Given the description of an element on the screen output the (x, y) to click on. 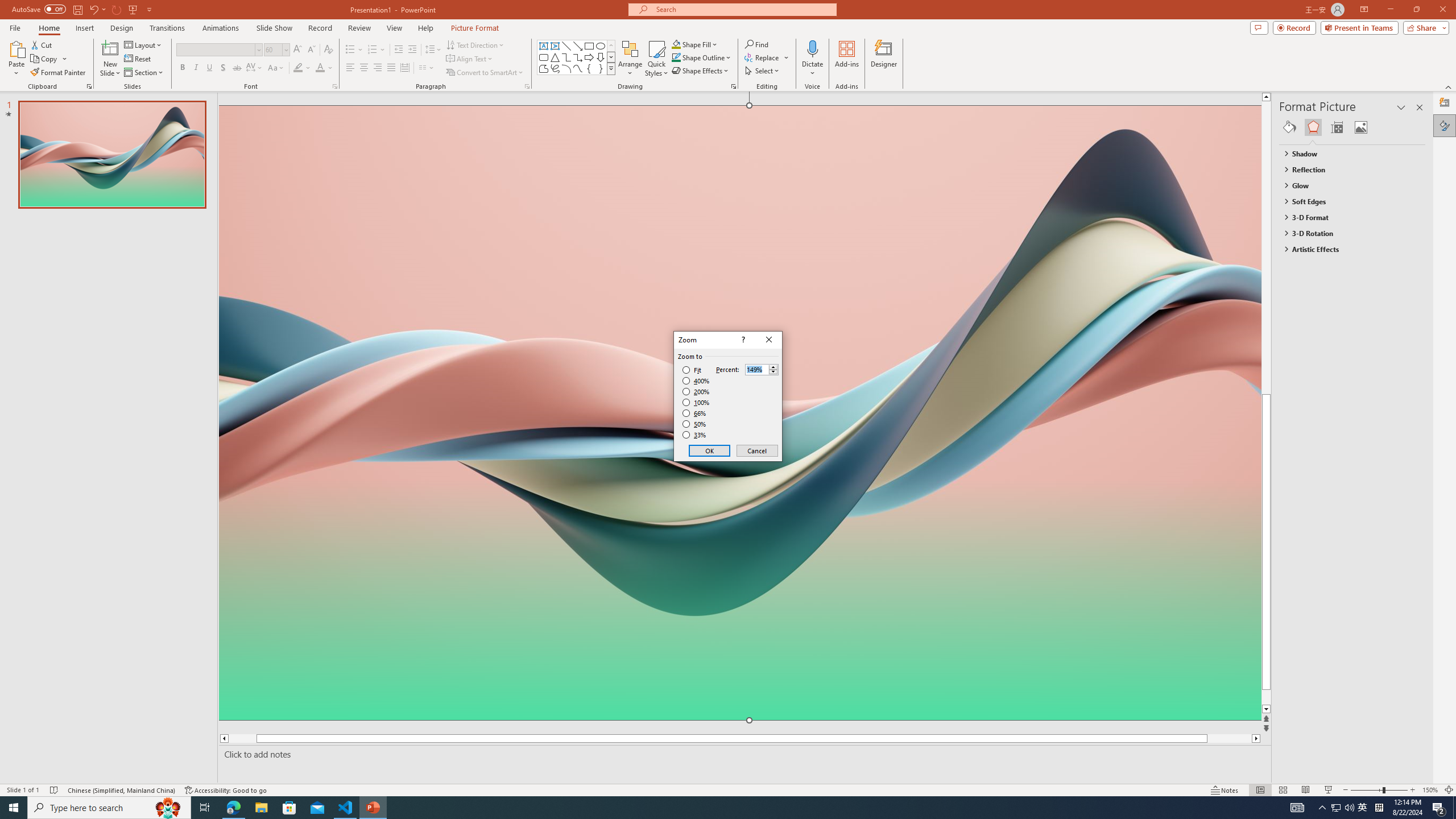
Rectangle: Rounded Corners (543, 57)
Freeform: Shape (543, 68)
AutomationID: ShapesInsertGallery (576, 57)
Text Highlight Color (302, 67)
Context help (742, 339)
Text Highlight Color Yellow (297, 67)
Row Down (611, 56)
Page up (1287, 247)
Open (285, 49)
Action Center, 2 new notifications (1439, 807)
Curve (577, 68)
Select (762, 69)
